Given the description of an element on the screen output the (x, y) to click on. 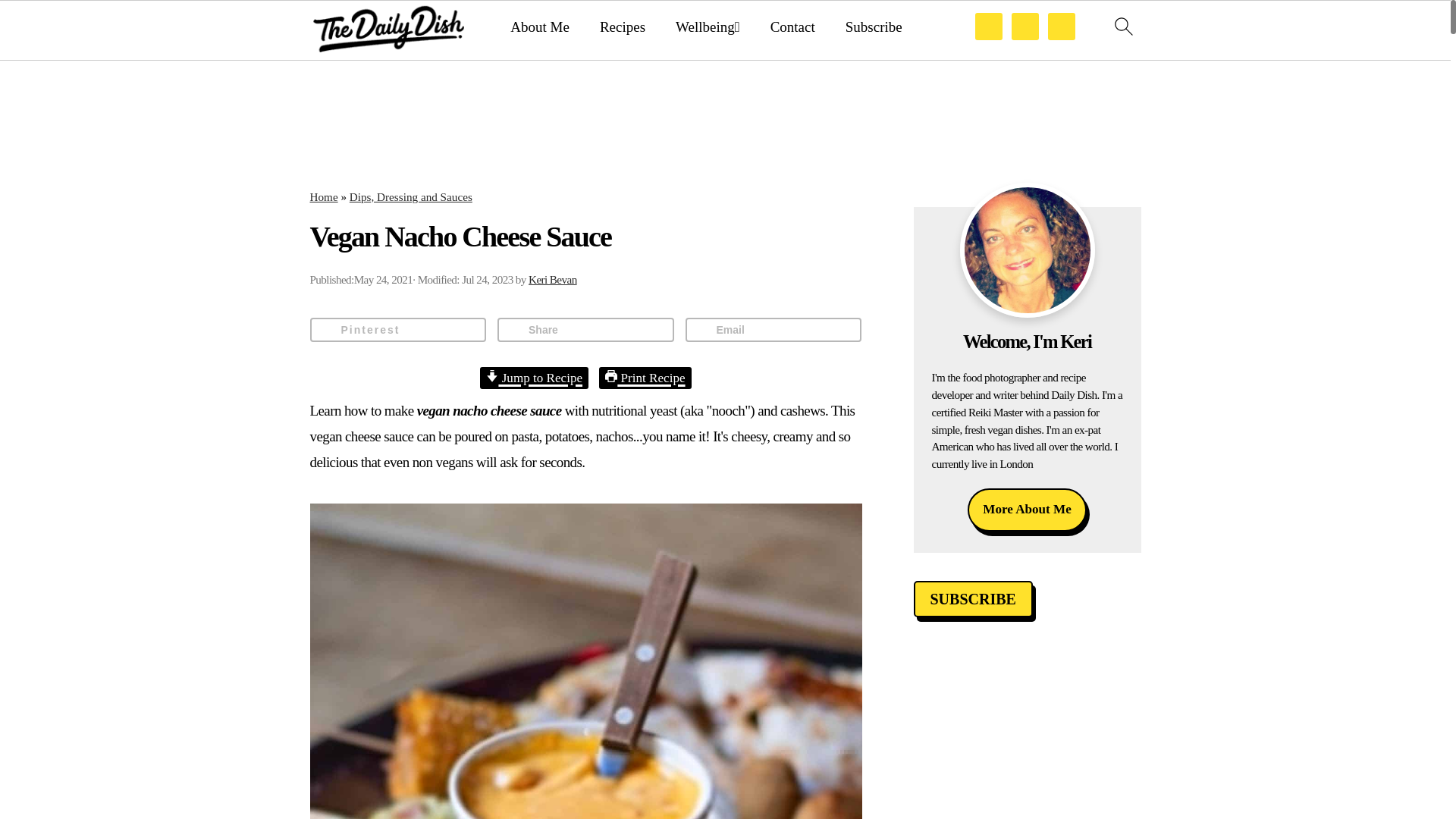
Send over email (773, 329)
search icon (1122, 30)
About Me (540, 27)
Home (322, 196)
Share on Facebook (585, 329)
Recipes (622, 27)
search icon (1122, 26)
Save to Pinterest (397, 329)
Contact (792, 27)
Subscribe (873, 27)
